Given the description of an element on the screen output the (x, y) to click on. 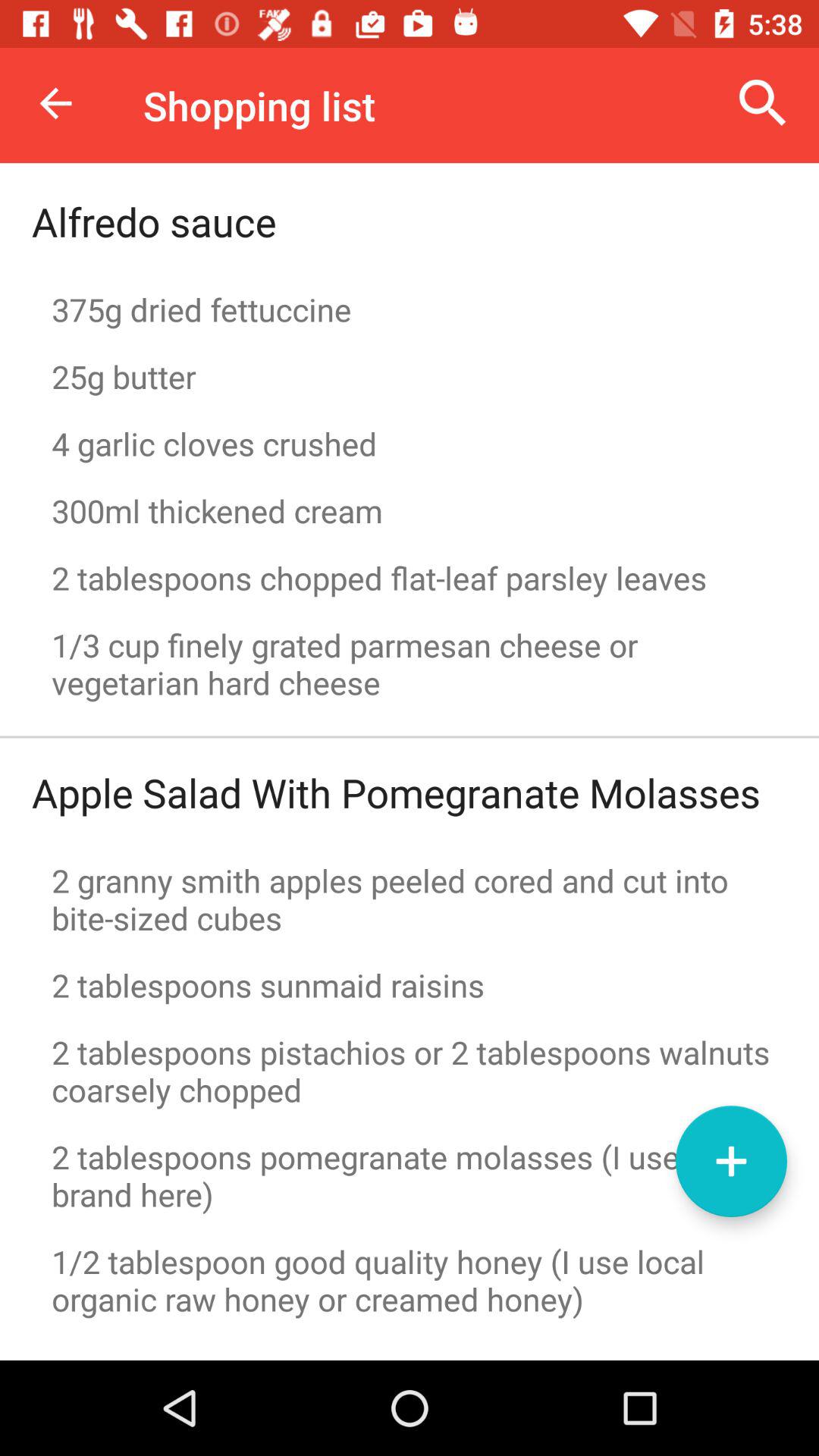
launch item at the top right corner (763, 103)
